Given the description of an element on the screen output the (x, y) to click on. 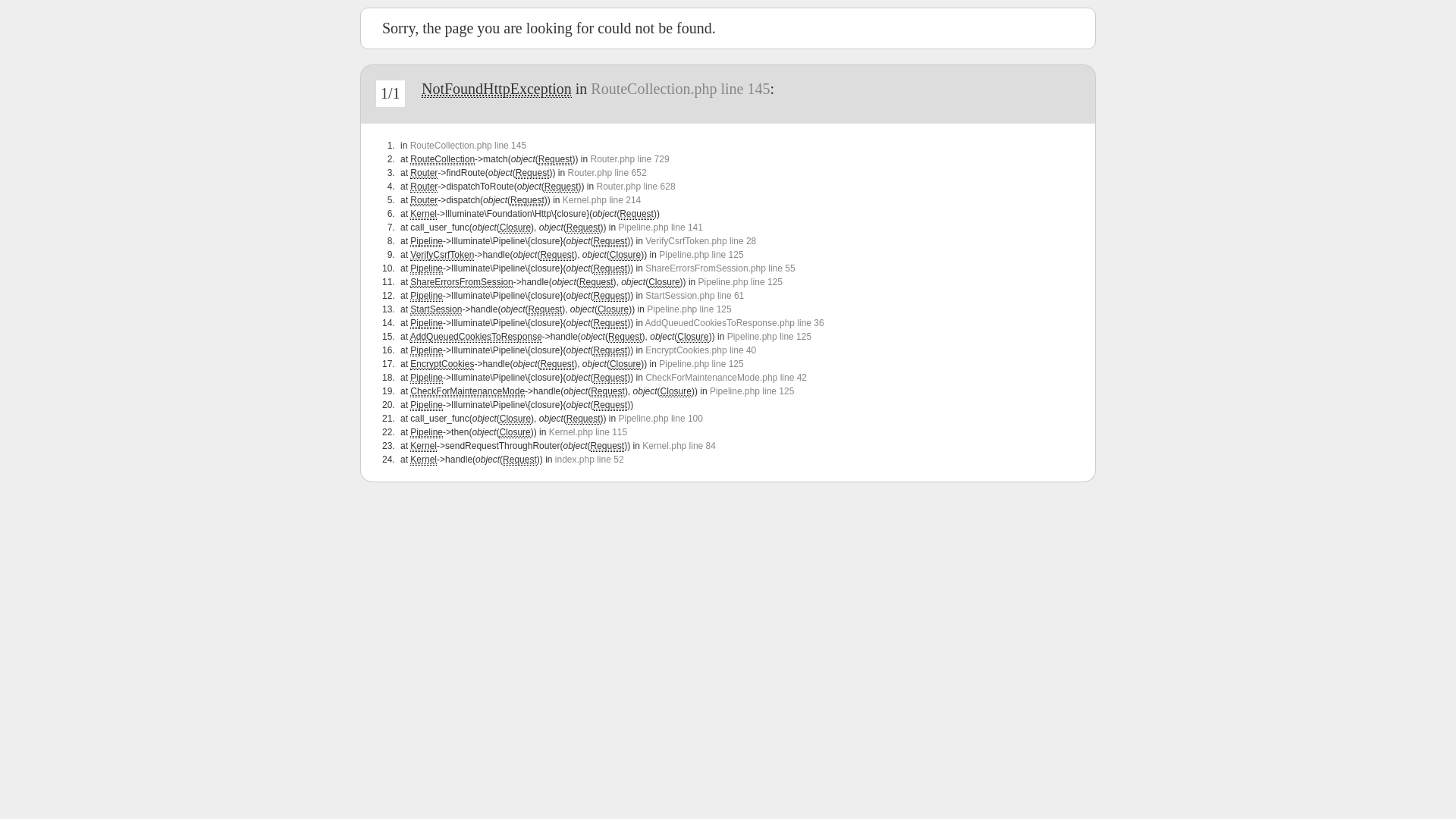
EncryptCookies.php line 40 Element type: text (700, 350)
ShareErrorsFromSession.php line 55 Element type: text (719, 268)
Router.php line 652 Element type: text (606, 172)
Kernel.php line 84 Element type: text (678, 445)
Pipeline.php line 125 Element type: text (769, 336)
Pipeline.php line 141 Element type: text (660, 227)
Pipeline.php line 125 Element type: text (700, 254)
Kernel.php line 115 Element type: text (588, 431)
Pipeline.php line 125 Element type: text (700, 363)
Pipeline.php line 125 Element type: text (751, 390)
Router.php line 628 Element type: text (635, 186)
RouteCollection.php line 145 Element type: text (679, 88)
VerifyCsrfToken.php line 28 Element type: text (700, 240)
AddQueuedCookiesToResponse.php line 36 Element type: text (734, 322)
Pipeline.php line 100 Element type: text (660, 418)
Kernel.php line 214 Element type: text (601, 199)
index.php line 52 Element type: text (589, 459)
StartSession.php line 61 Element type: text (694, 295)
Pipeline.php line 125 Element type: text (688, 309)
RouteCollection.php line 145 Element type: text (468, 145)
Router.php line 729 Element type: text (628, 158)
Pipeline.php line 125 Element type: text (740, 281)
CheckForMaintenanceMode.php line 42 Element type: text (725, 377)
